Given the description of an element on the screen output the (x, y) to click on. 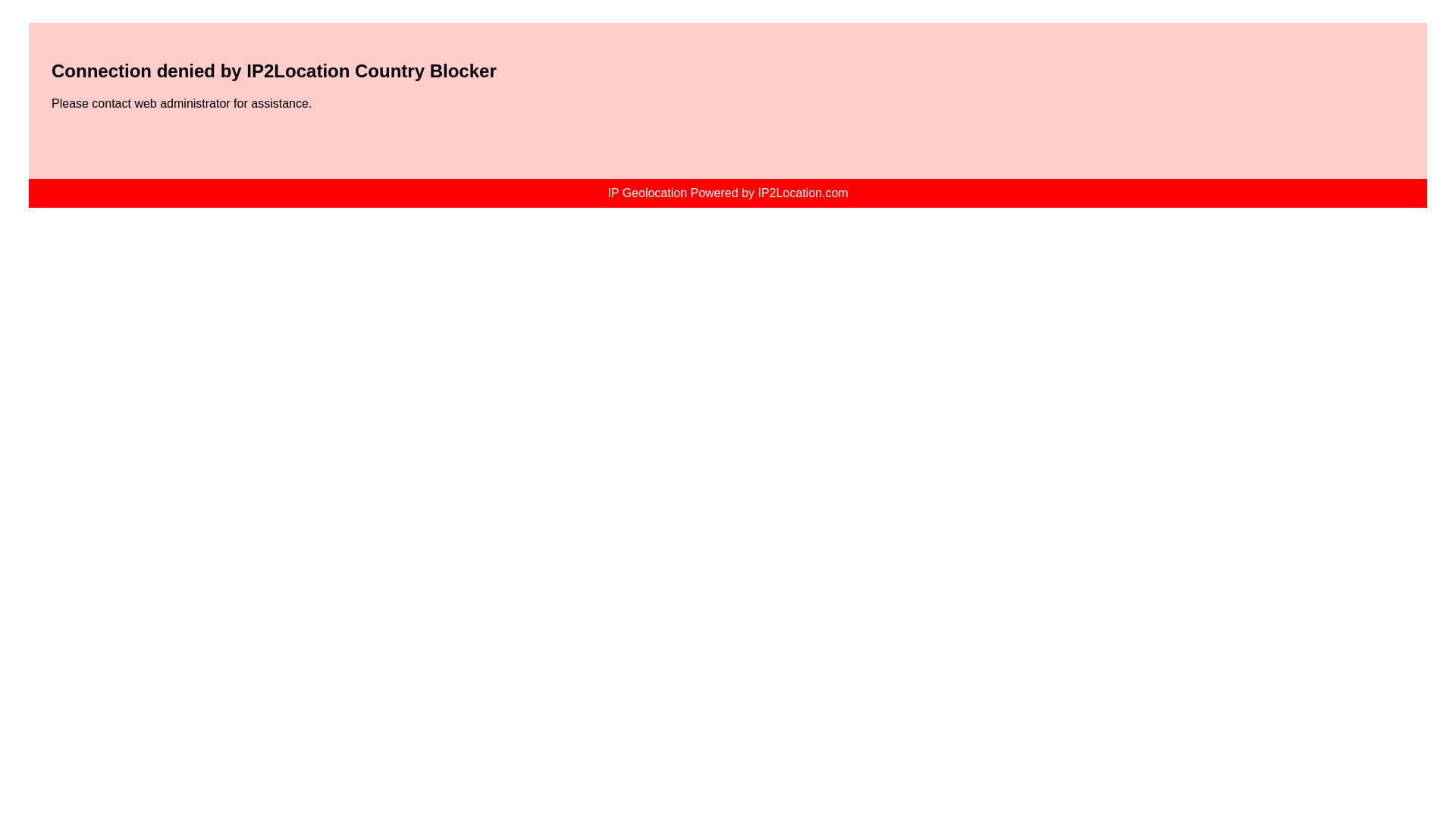
IP Geolocation Powered by IP2Location.com (727, 192)
